Given the description of an element on the screen output the (x, y) to click on. 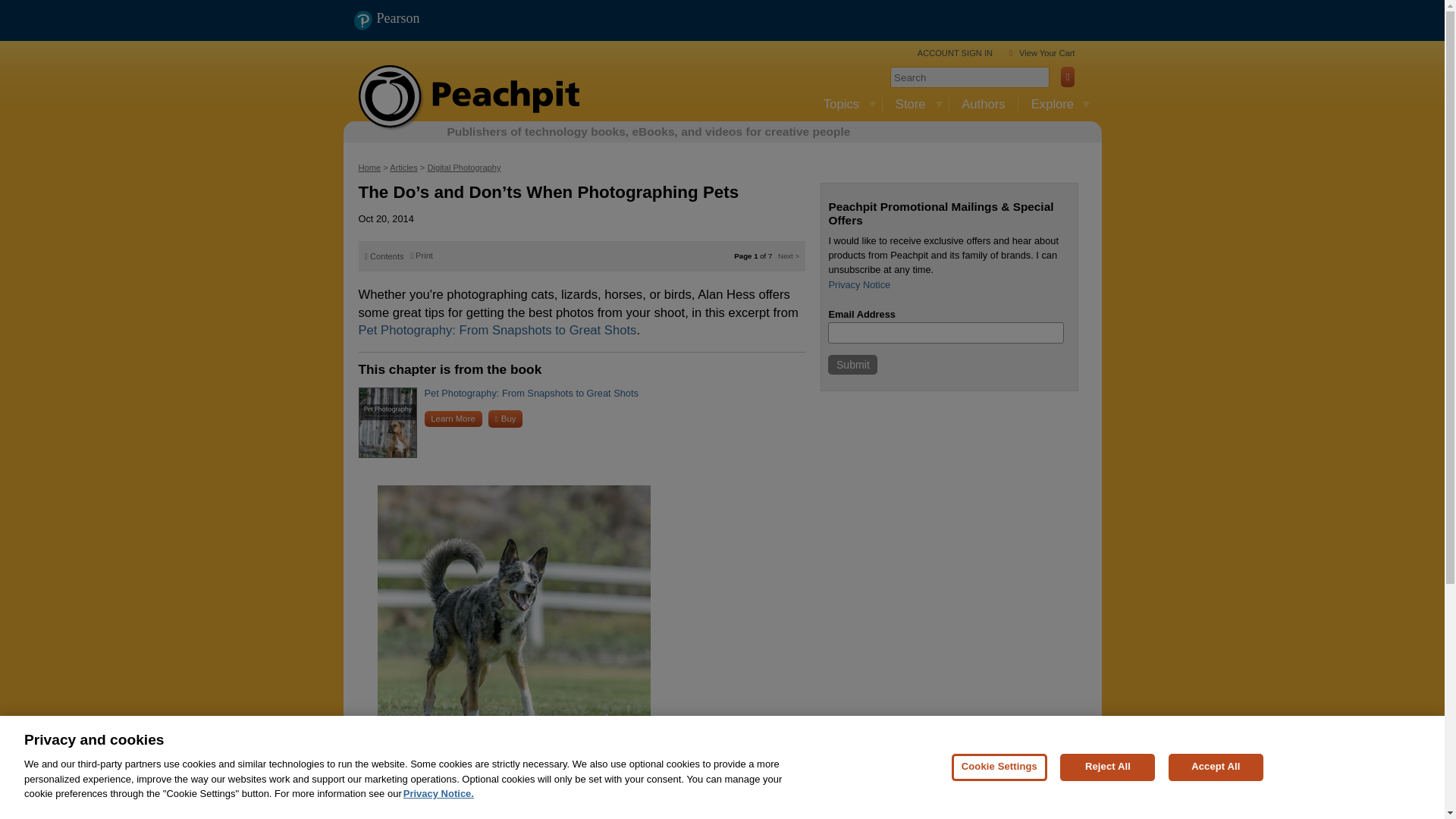
ACCOUNT SIGN IN (954, 52)
Articles (403, 166)
Home (369, 166)
Print (421, 255)
Submit (852, 364)
Pet Photography: From Snapshots to Great Shots (497, 329)
Privacy Notice (858, 284)
Pet Photography: From Snapshots to Great Shots (532, 392)
Submit (852, 364)
View Your Cart (1046, 52)
Home (472, 98)
Learn More (453, 418)
Topics (846, 104)
Digital Photography (463, 166)
